Given the description of an element on the screen output the (x, y) to click on. 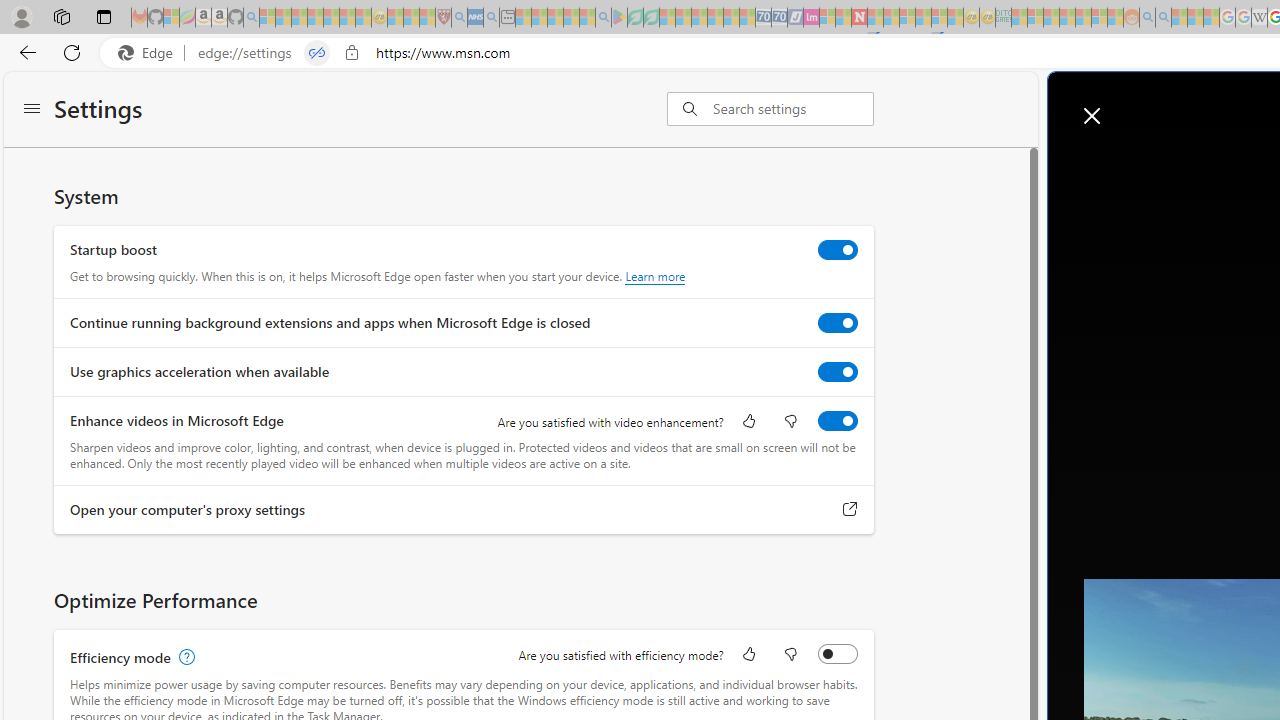
Edge (150, 53)
Search settings (791, 109)
Use graphics acceleration when available (837, 372)
